Given the description of an element on the screen output the (x, y) to click on. 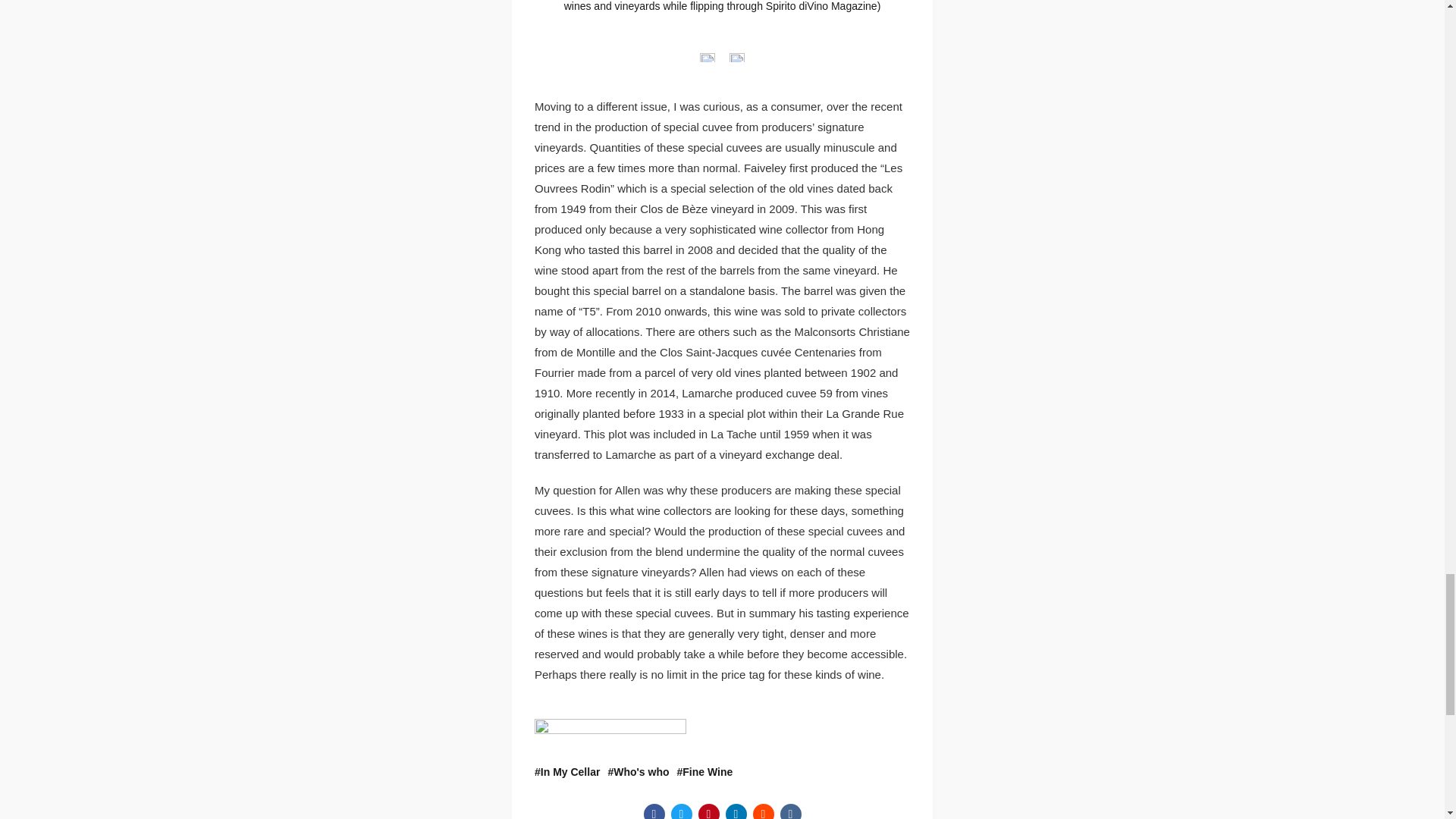
In My Cellar (566, 772)
Who's who (637, 772)
In My Cellar (566, 772)
Who's who (637, 772)
Fine Wine (705, 772)
Fine Wine (705, 772)
